Given the description of an element on the screen output the (x, y) to click on. 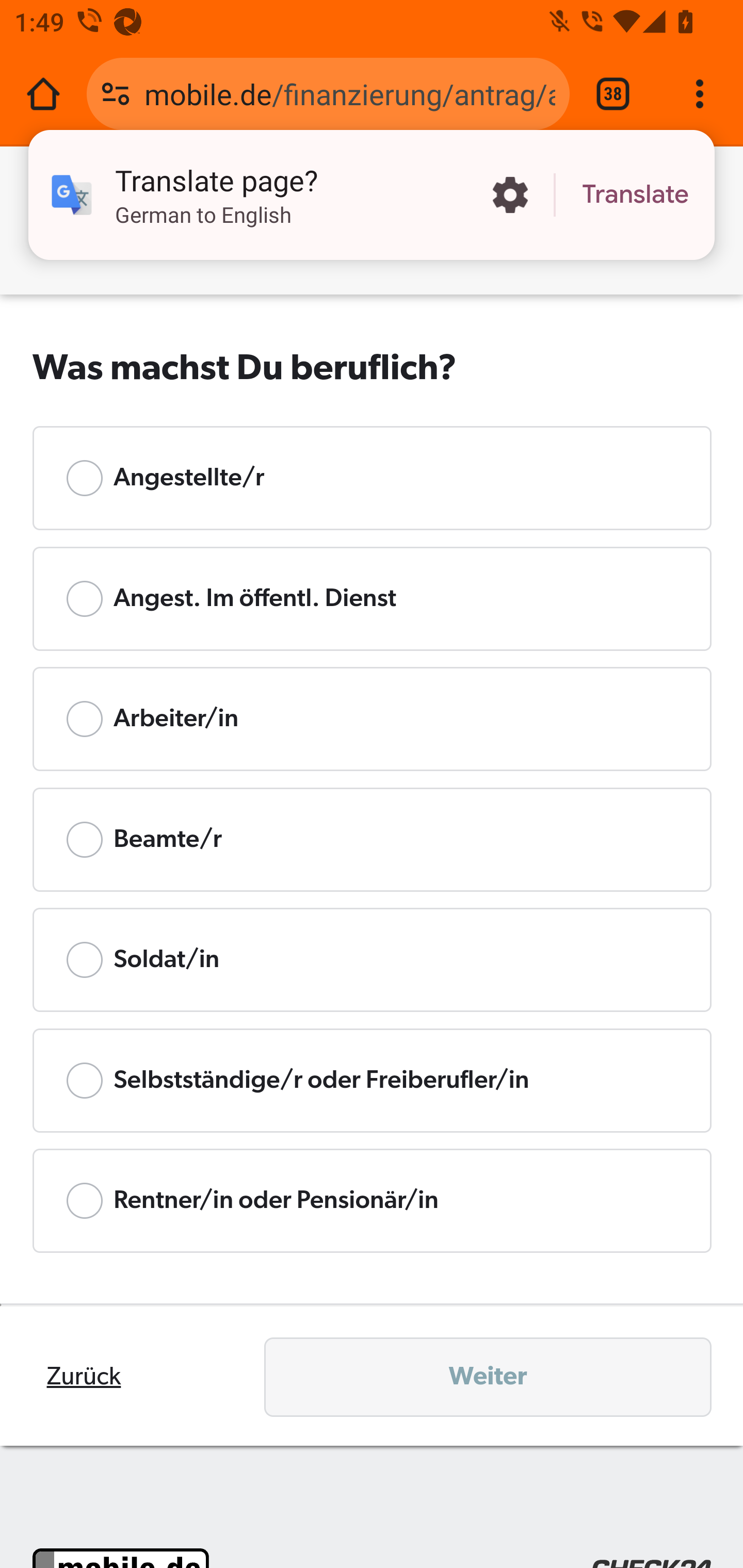
Open the home page (43, 93)
Connection is secure (115, 93)
Switch or close tabs (612, 93)
Customize and control Google Chrome (699, 93)
Translate (634, 195)
More options in the Translate page? (509, 195)
Weiter (488, 1376)
Zurück (83, 1376)
